Given the description of an element on the screen output the (x, y) to click on. 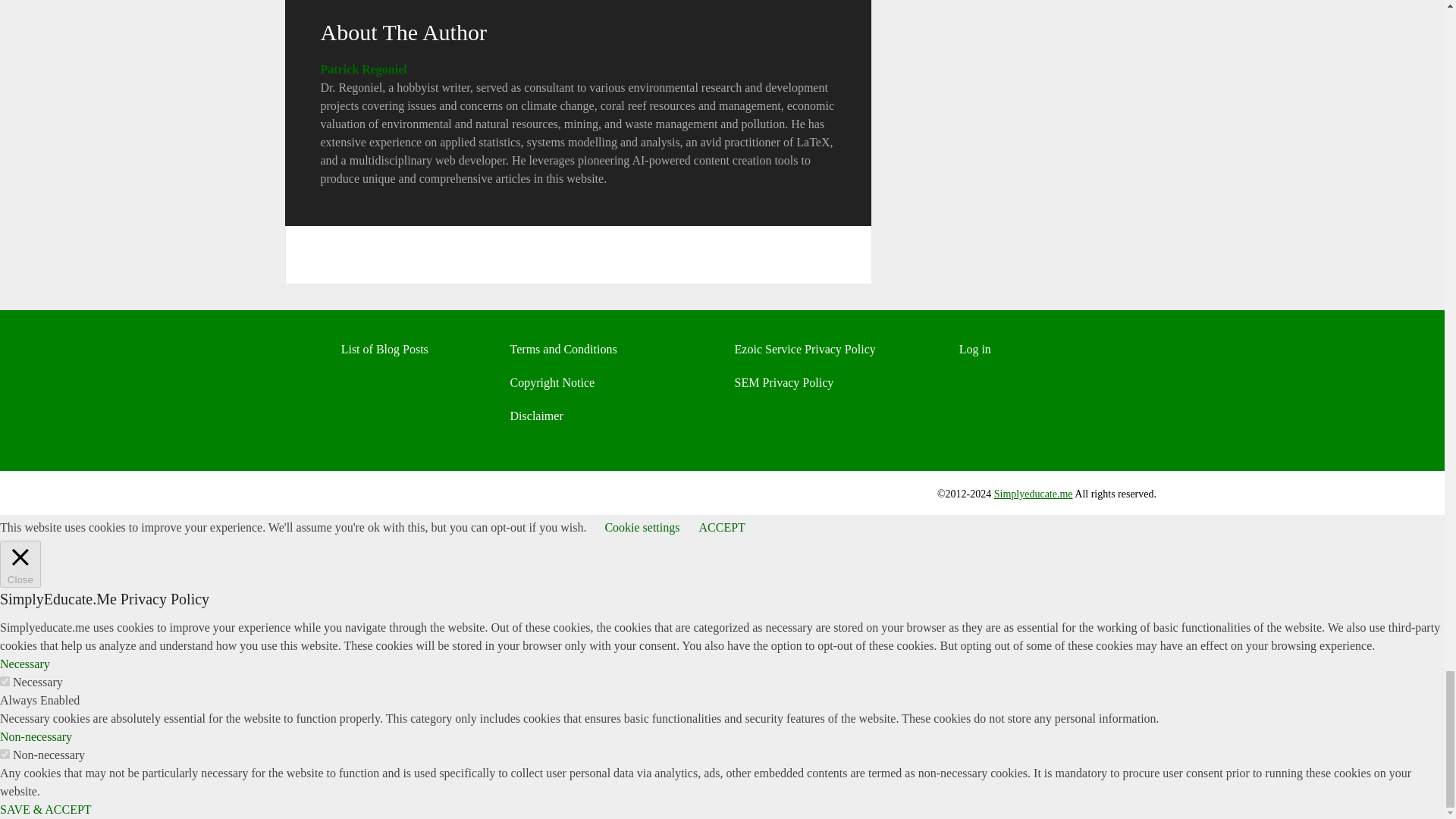
on (5, 754)
on (5, 681)
